Given the description of an element on the screen output the (x, y) to click on. 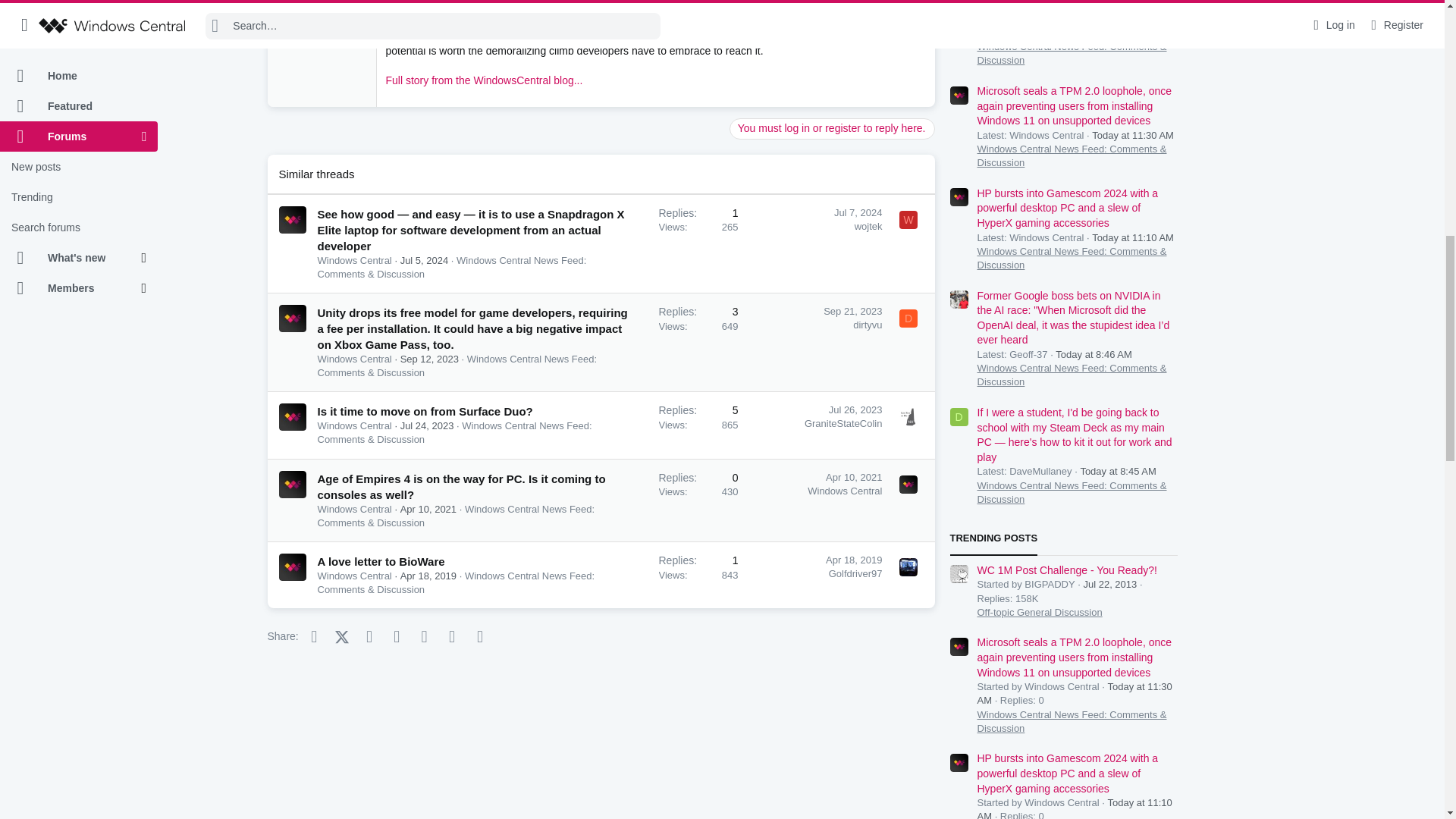
Jul 7, 2024 at 1:26 AM (858, 212)
First message reaction score: 0 (698, 341)
First message reaction score: 0 (698, 425)
Sep 12, 2023 at 5:30 PM (429, 358)
Jul 5, 2024 at 12:40 PM (424, 260)
First message reaction score: 0 (698, 243)
Jul 24, 2023 at 3:05 PM (427, 425)
Sep 21, 2023 at 6:57 AM (853, 310)
